Given the description of an element on the screen output the (x, y) to click on. 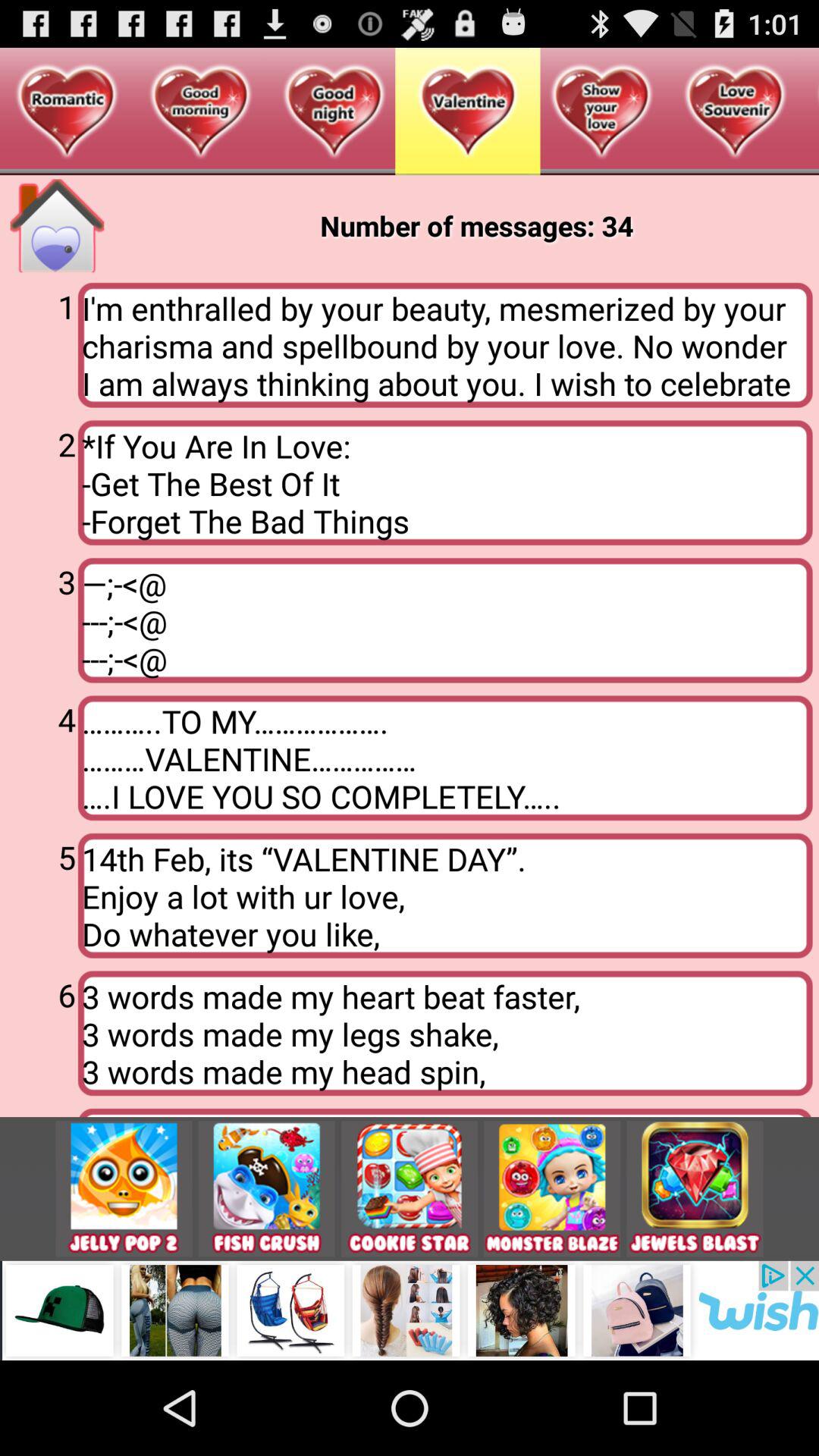
click on the button leftto fish crush (124, 1189)
click on the third symbol at the top of the page (333, 112)
